Given the description of an element on the screen output the (x, y) to click on. 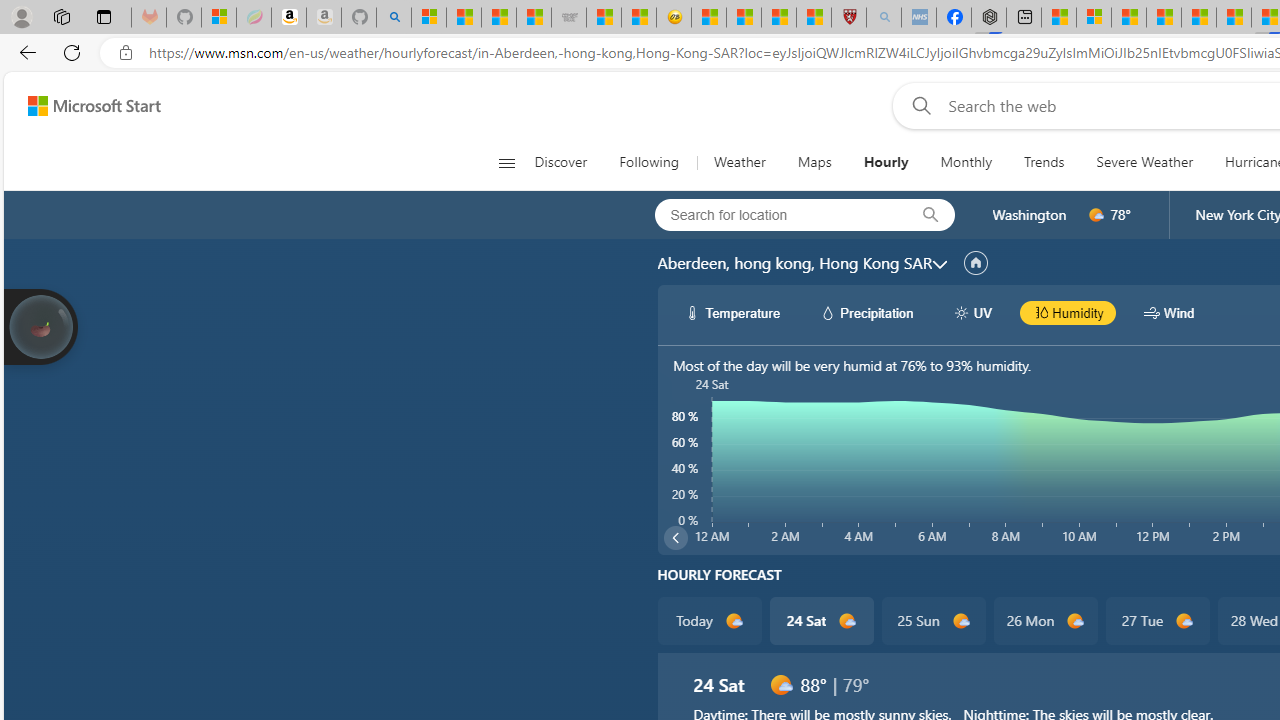
26 Mon d1000 (1045, 620)
Monthly (966, 162)
Severe Weather (1144, 162)
Join us in planting real trees to help our planet! (40, 327)
Join us in planting real trees to help our planet! (40, 325)
hourlyChart/humidityBlack Humidity (1068, 312)
hourlyChart/precipitationWhite Precipitation (866, 312)
